Given the description of an element on the screen output the (x, y) to click on. 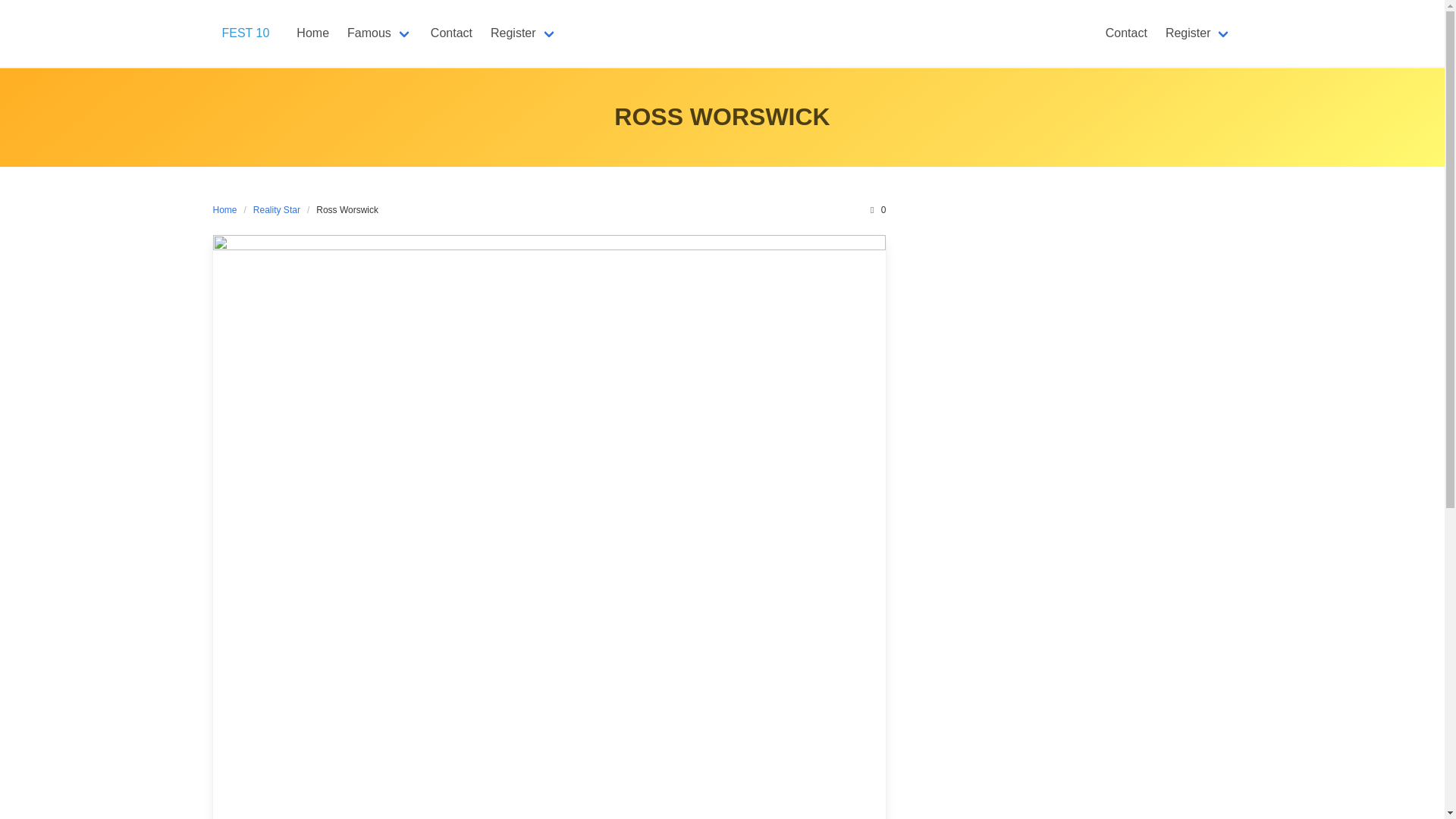
FEST 10 (244, 33)
Home (227, 210)
Reality Star (276, 210)
Famous (379, 33)
0 (876, 210)
Contact (1126, 33)
Register (1198, 33)
Contact (451, 33)
Register (523, 33)
Contact (451, 33)
